Given the description of an element on the screen output the (x, y) to click on. 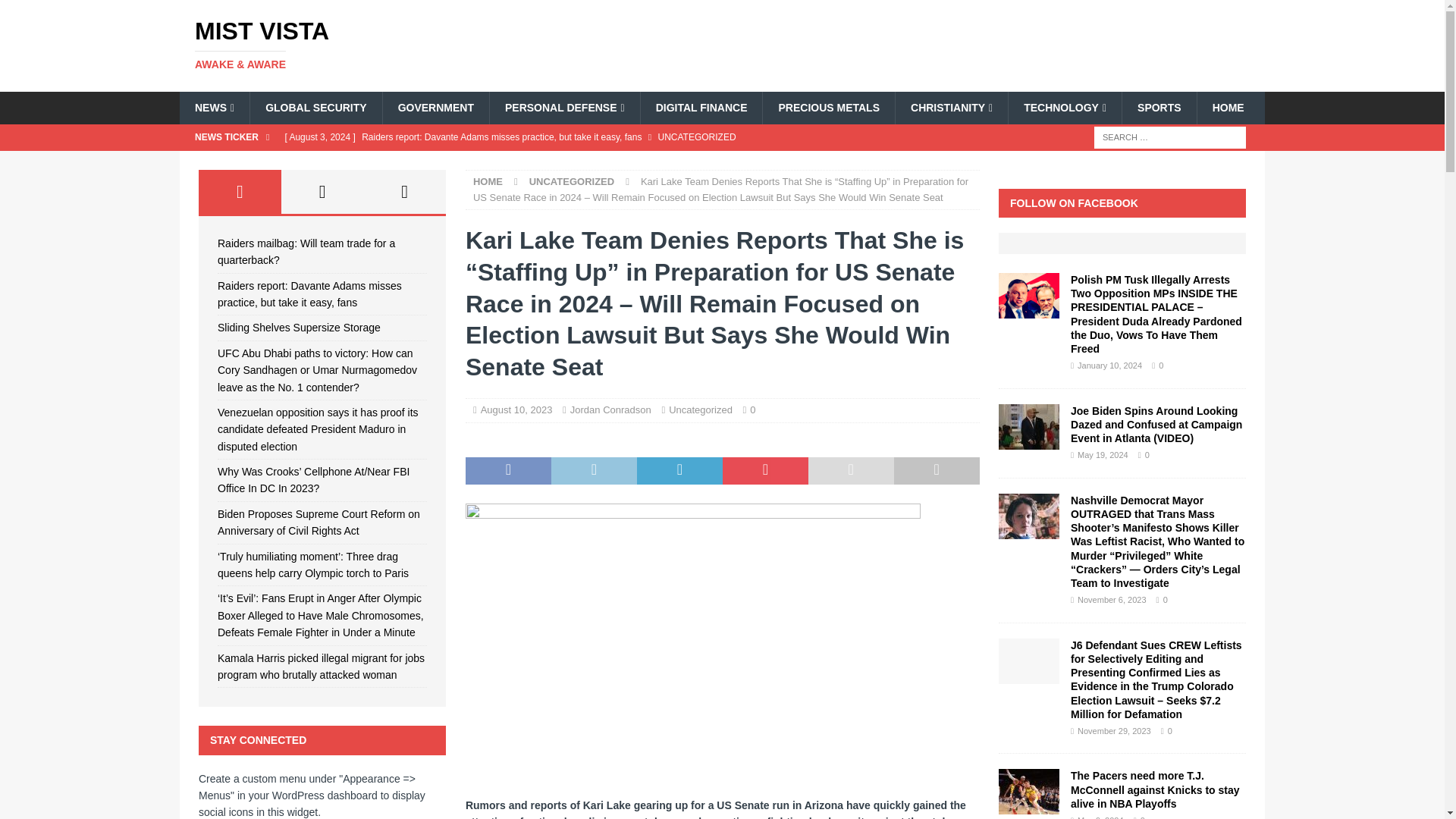
GOVERNMENT (435, 107)
PRECIOUS METALS (828, 107)
GLOBAL SECURITY (314, 107)
TECHNOLOGY (1064, 107)
HOME (1227, 107)
NEWS (213, 107)
Sliding Shelves Supersize Storage (581, 162)
PERSONAL DEFENSE (564, 107)
CHRISTIANITY (951, 107)
Search (56, 11)
SPORTS (1158, 107)
DIGITAL FINANCE (701, 107)
Mist Vista (351, 44)
